Given the description of an element on the screen output the (x, y) to click on. 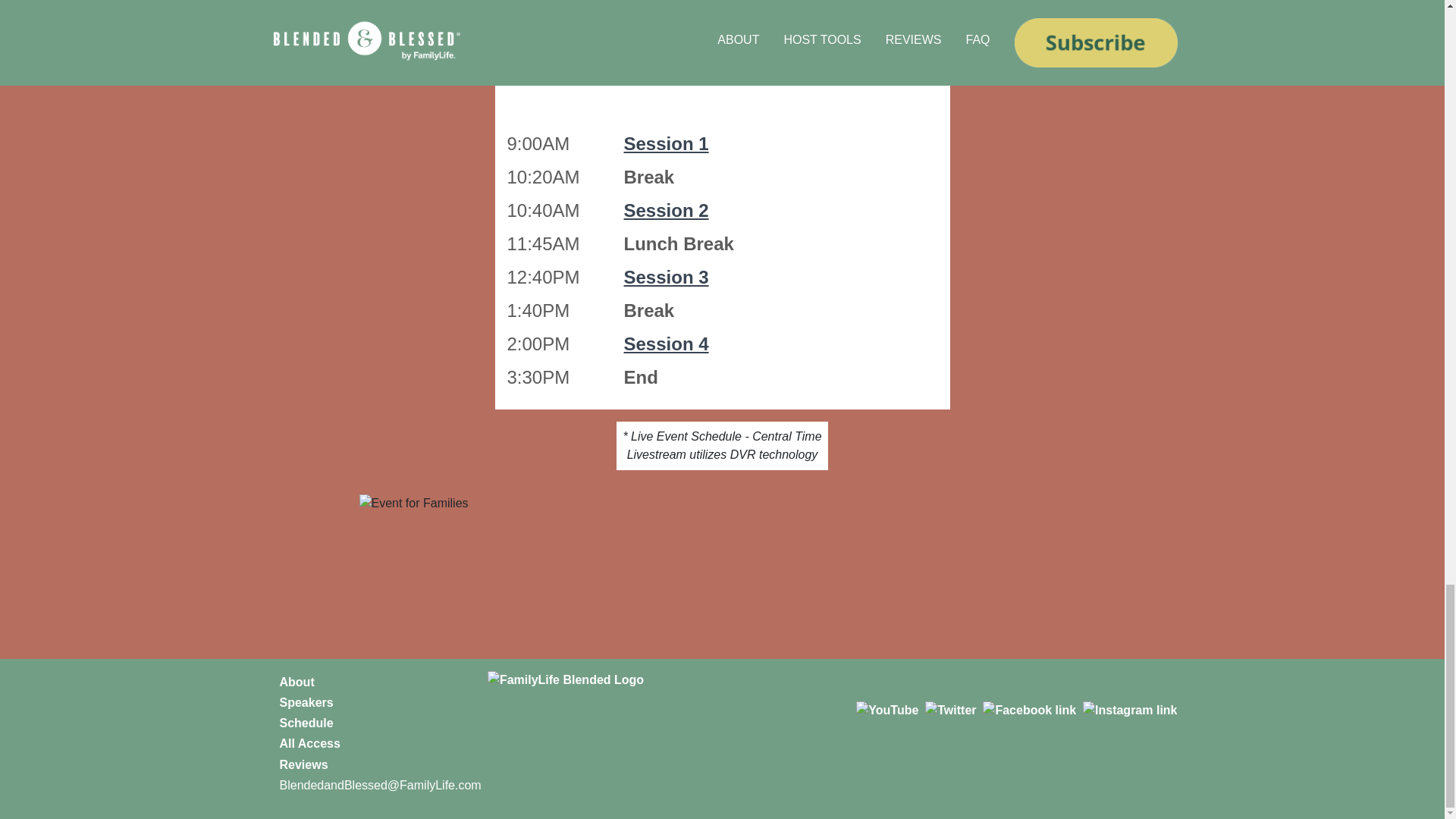
About (296, 681)
FamilyLife Blended Home (665, 714)
Instagram (1129, 709)
Session 4 (665, 343)
X (949, 709)
Speakers (306, 702)
Facebook (1028, 709)
Schedule (306, 722)
Session 1 (665, 143)
All Access (309, 743)
YouTube (887, 709)
Session 3 (665, 276)
Reviews (303, 764)
Session 2 (665, 209)
